Given the description of an element on the screen output the (x, y) to click on. 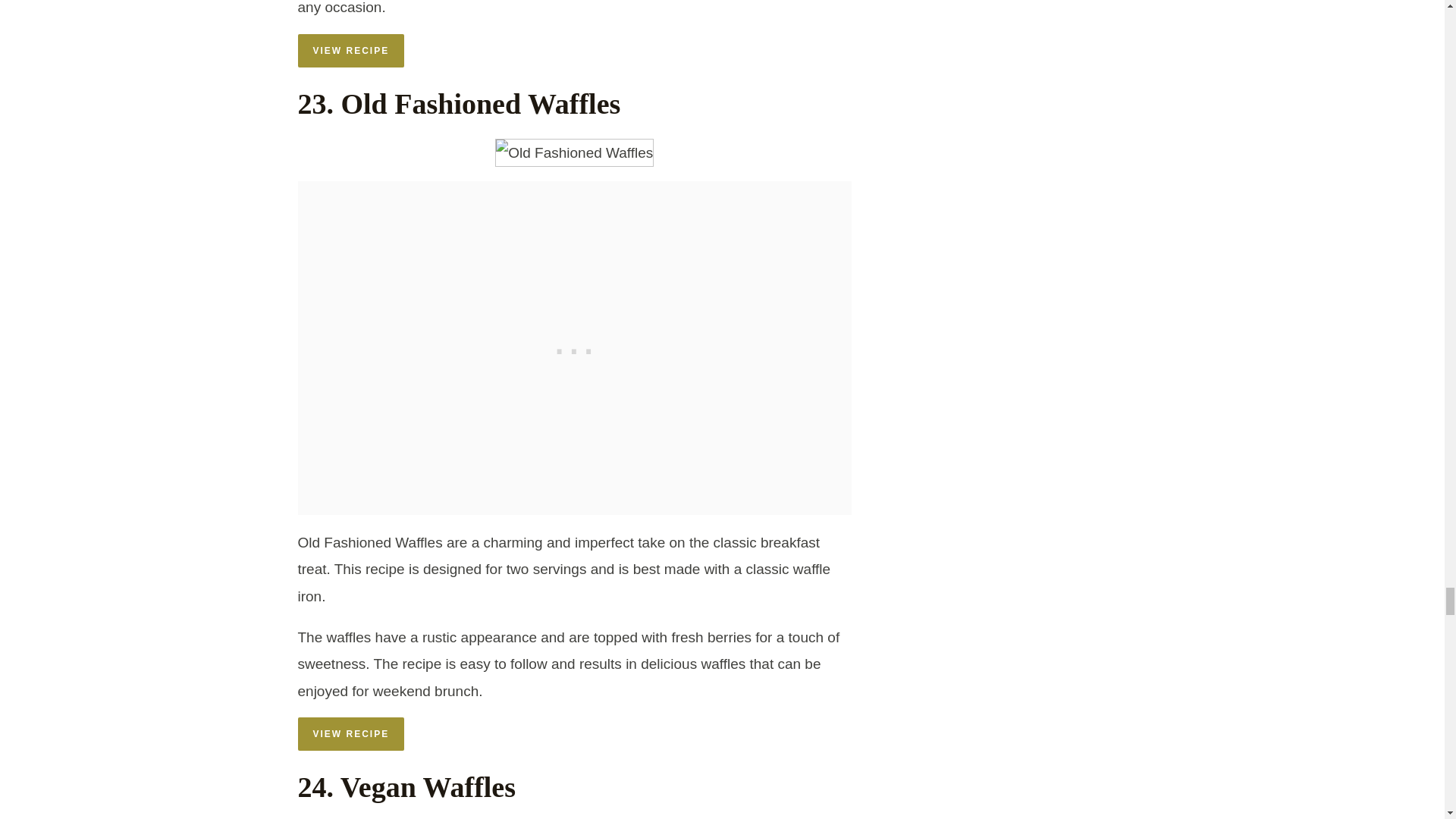
VIEW RECIPE (350, 50)
